Given the description of an element on the screen output the (x, y) to click on. 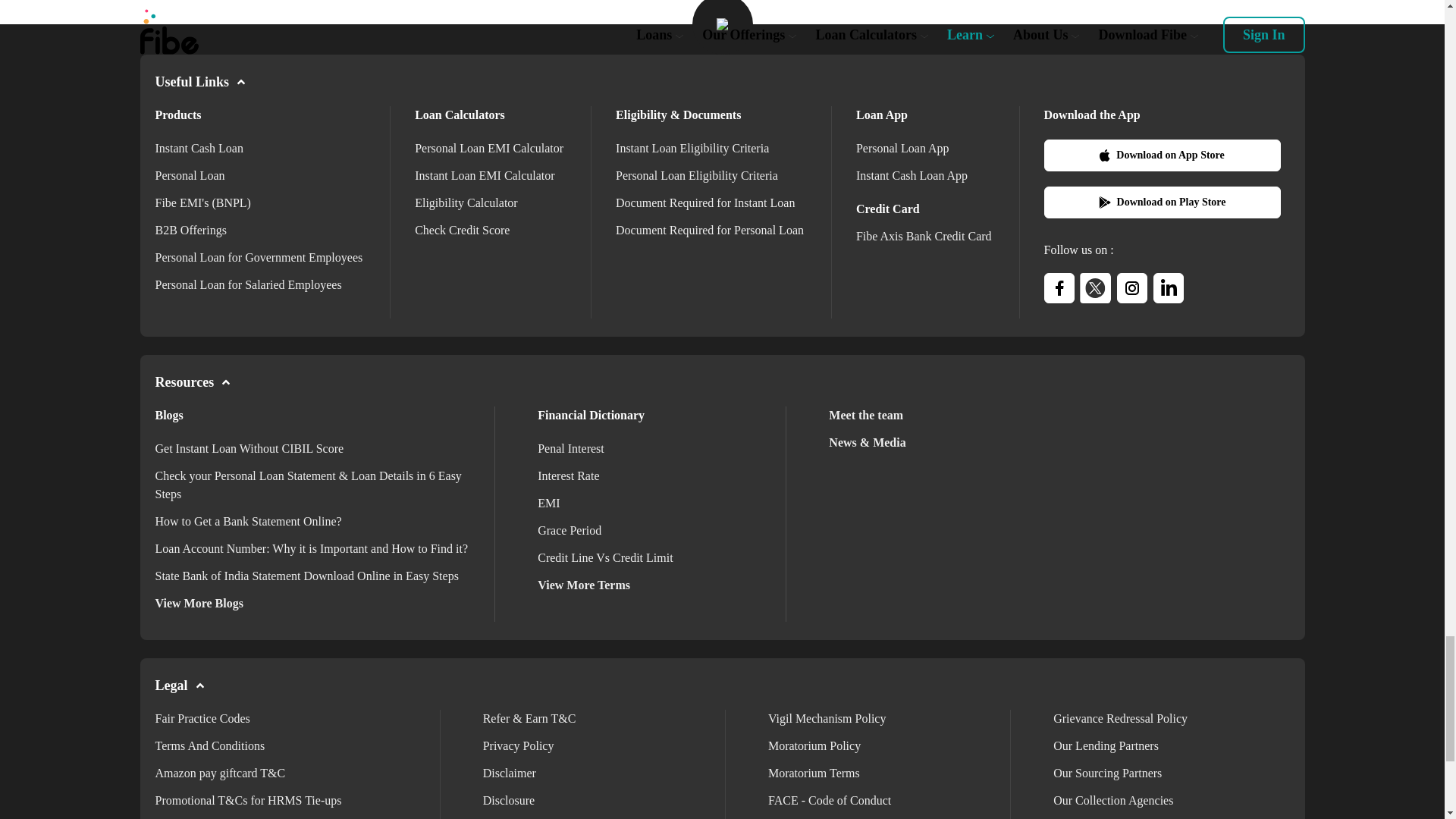
linkedin (1168, 287)
facebook (1058, 287)
Our Collection Agencies (1112, 799)
vigil mechanism policy (826, 717)
Privacy Policy (518, 745)
Grievance Redressal Policy (1120, 717)
fair code practices (201, 717)
twitter (1095, 287)
moratorium policy (814, 745)
Our Sourcing Partners (1106, 772)
